Given the description of an element on the screen output the (x, y) to click on. 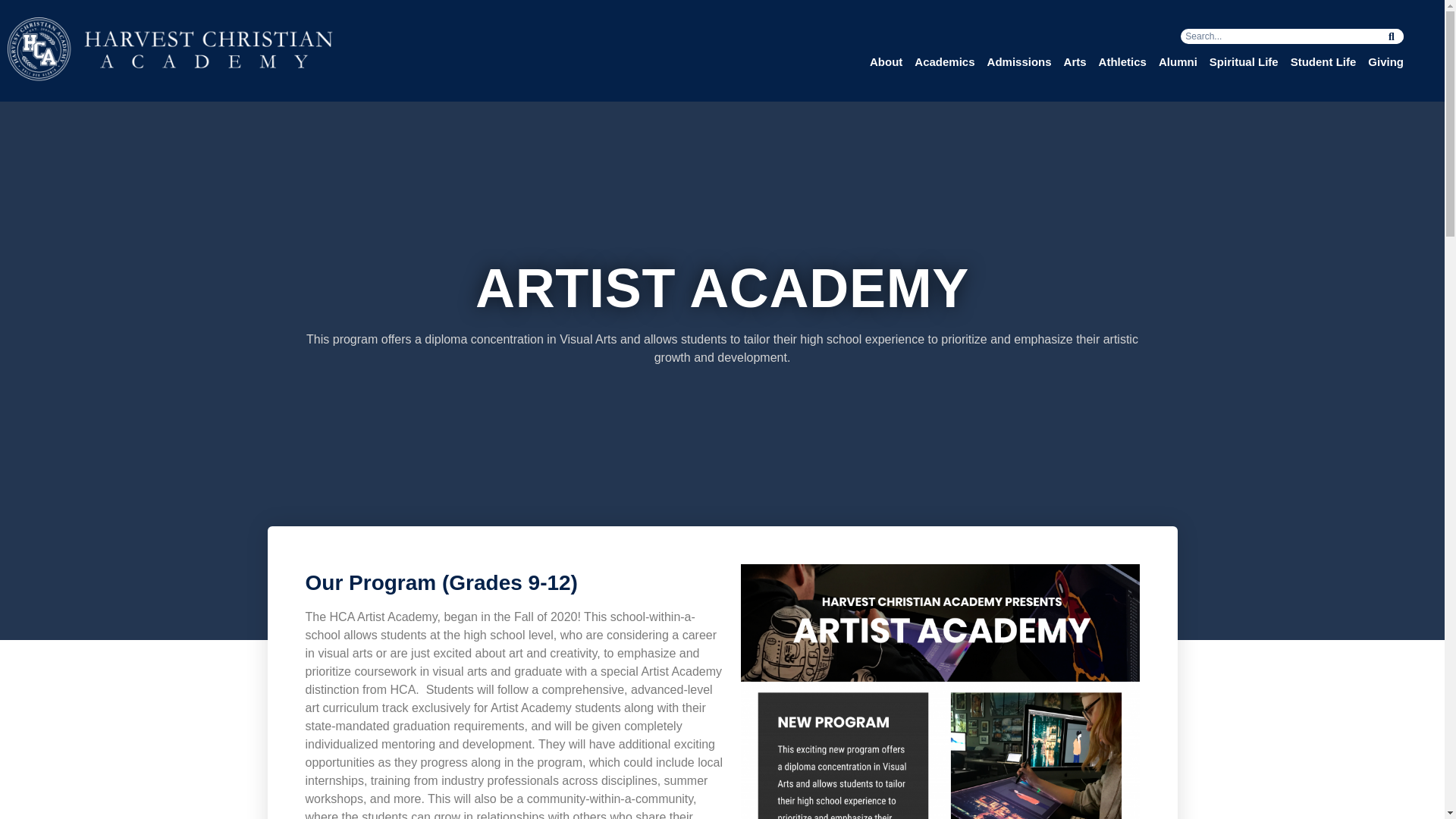
Alumni (1177, 61)
About (885, 61)
Admissions (1019, 61)
Athletics (1123, 61)
Academics (944, 61)
Arts (1075, 61)
